Given the description of an element on the screen output the (x, y) to click on. 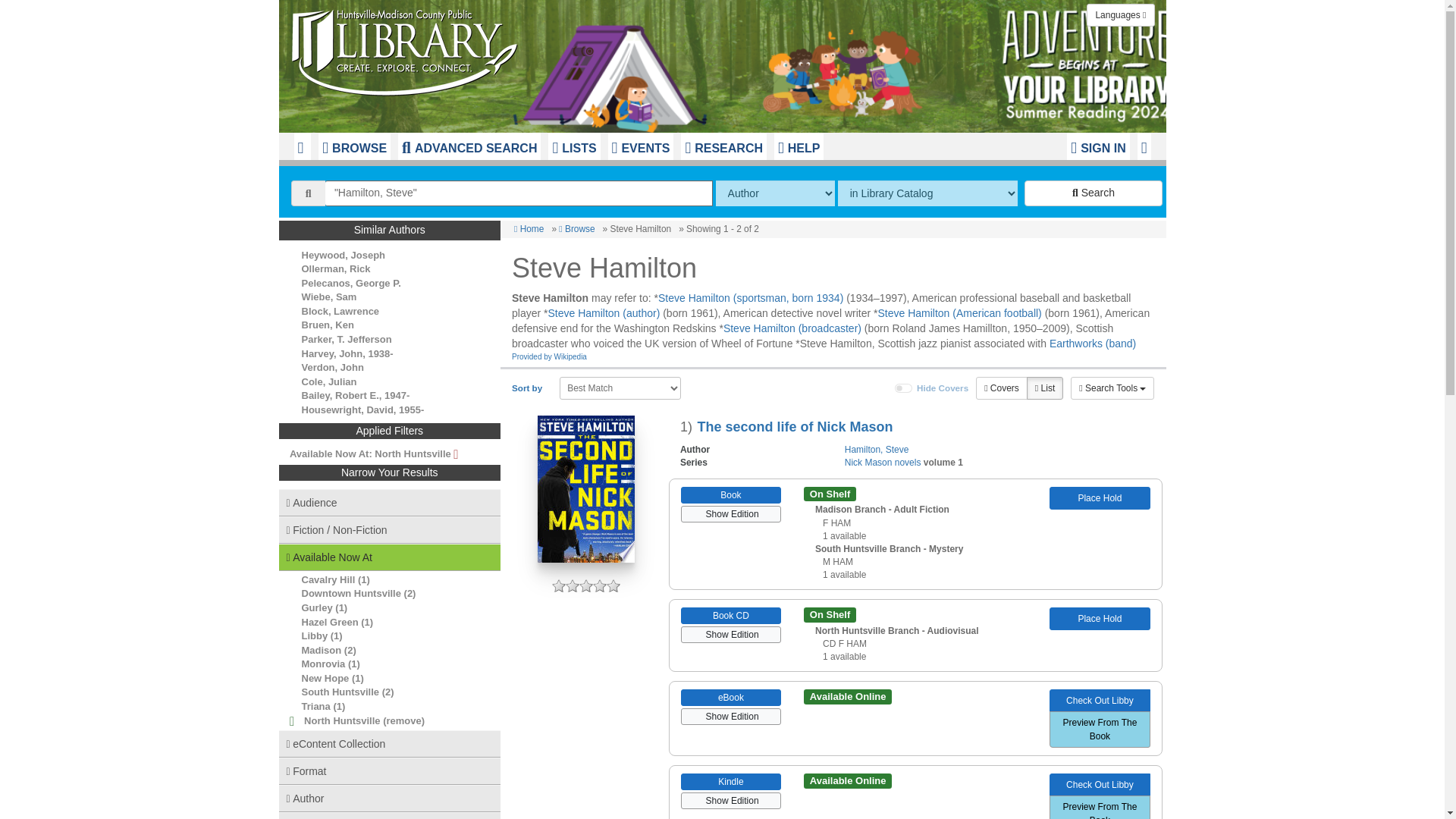
Languages  (1120, 15)
EVENTS (641, 145)
Wiebe, Sam (328, 296)
Heywood, Joseph (343, 255)
Ollerman, Rick (336, 268)
on (903, 388)
Harvey, John, 1938- (347, 353)
RESEARCH (724, 145)
BROWSE (354, 145)
"Hamilton, Steve" (518, 193)
